Given the description of an element on the screen output the (x, y) to click on. 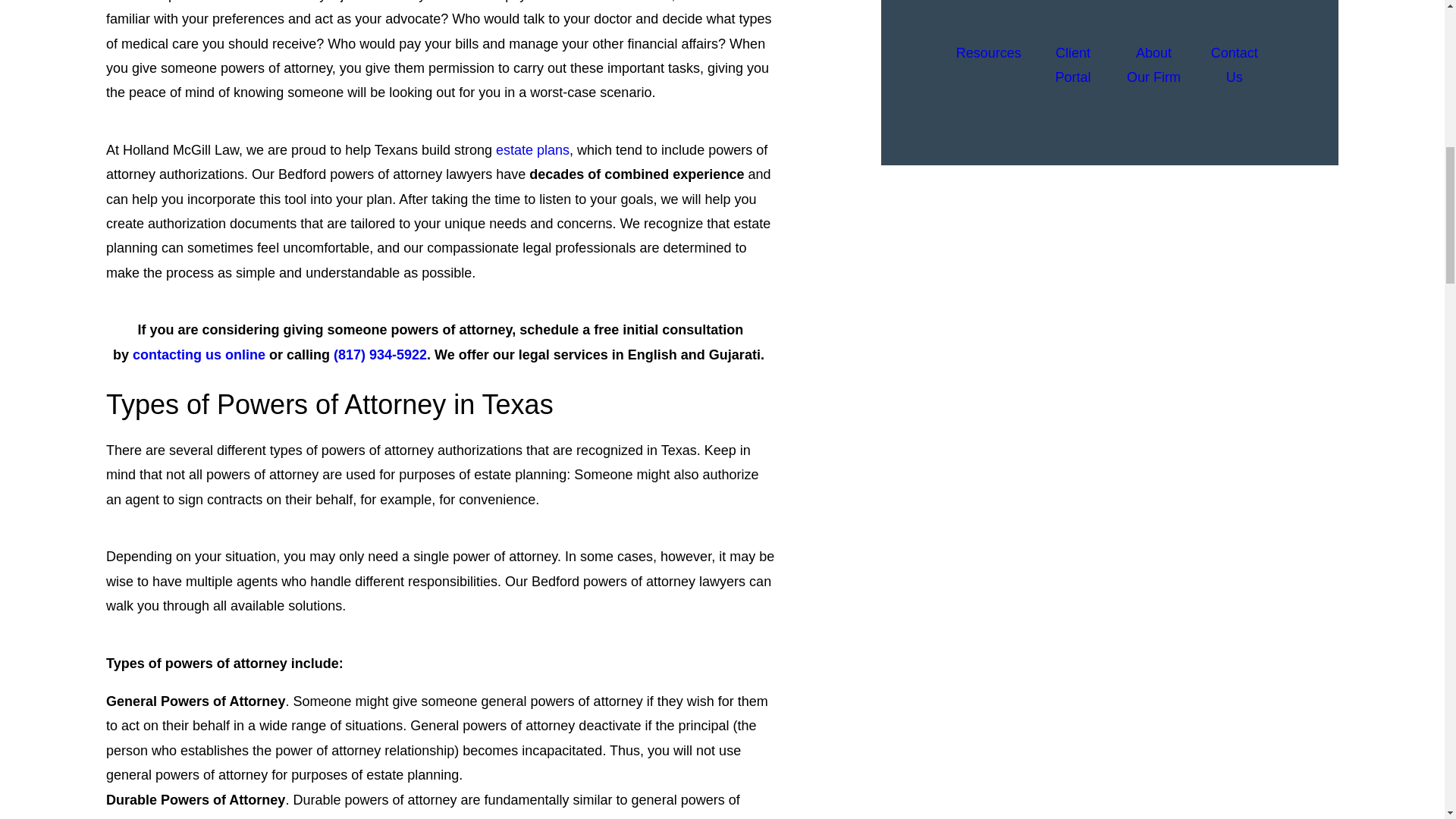
Client Portal (1072, 65)
contacting us online (198, 354)
Resources (989, 65)
Contact Us (1234, 65)
estate plans (532, 150)
About Our Firm (1153, 65)
